Given the description of an element on the screen output the (x, y) to click on. 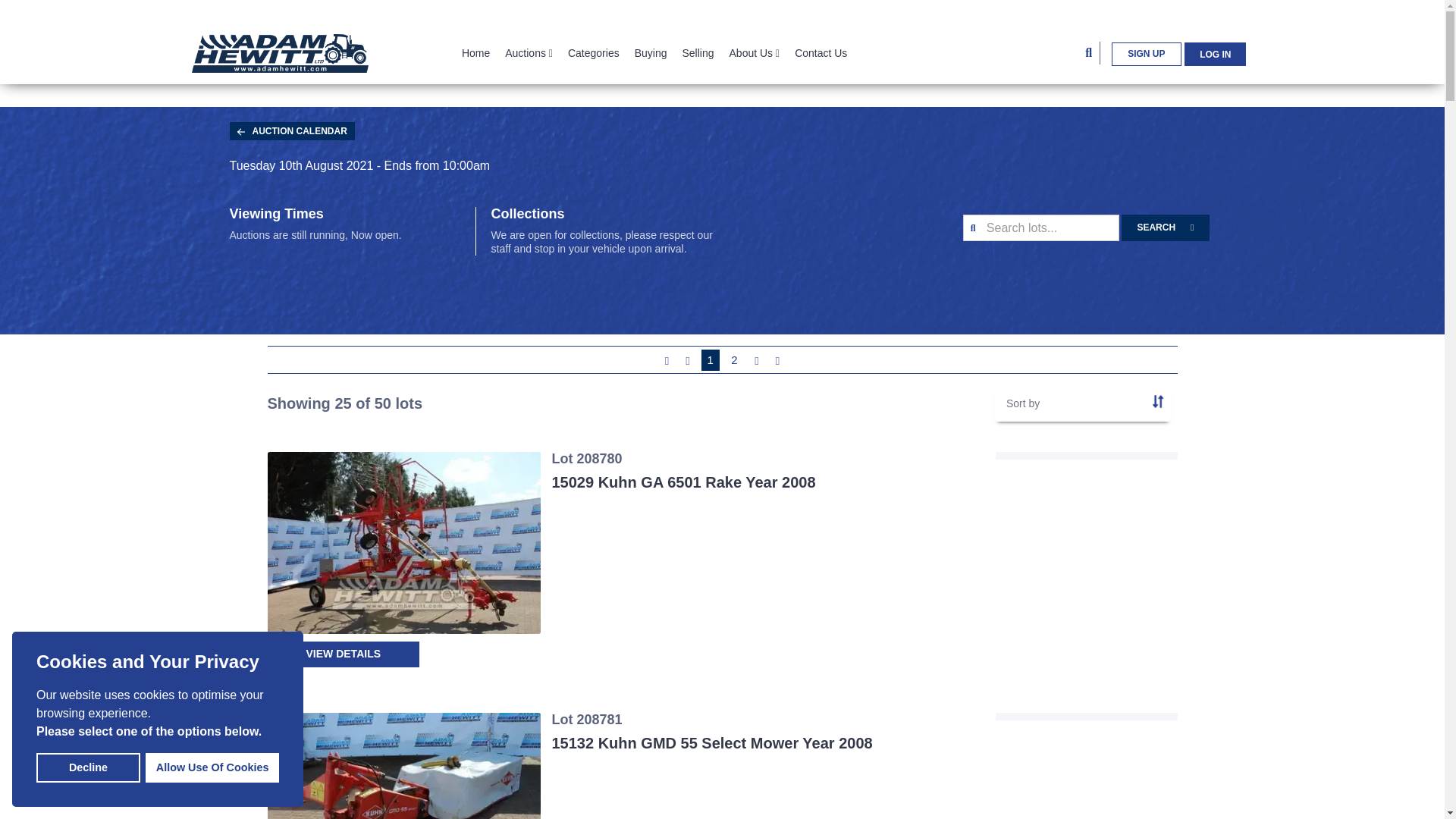
VIEW DETAILS (342, 653)
Allow Use Of Cookies (212, 767)
AUCTION CALENDAR (290, 131)
Login (1085, 614)
About Us (754, 53)
Selling (697, 53)
About Us (754, 53)
LOG IN (1214, 53)
Buying (650, 53)
Signup (1146, 54)
Login (1214, 53)
Auctions (529, 53)
Adam Hewitt Ltd (279, 52)
Login (1085, 353)
Lot number (1158, 400)
